Given the description of an element on the screen output the (x, y) to click on. 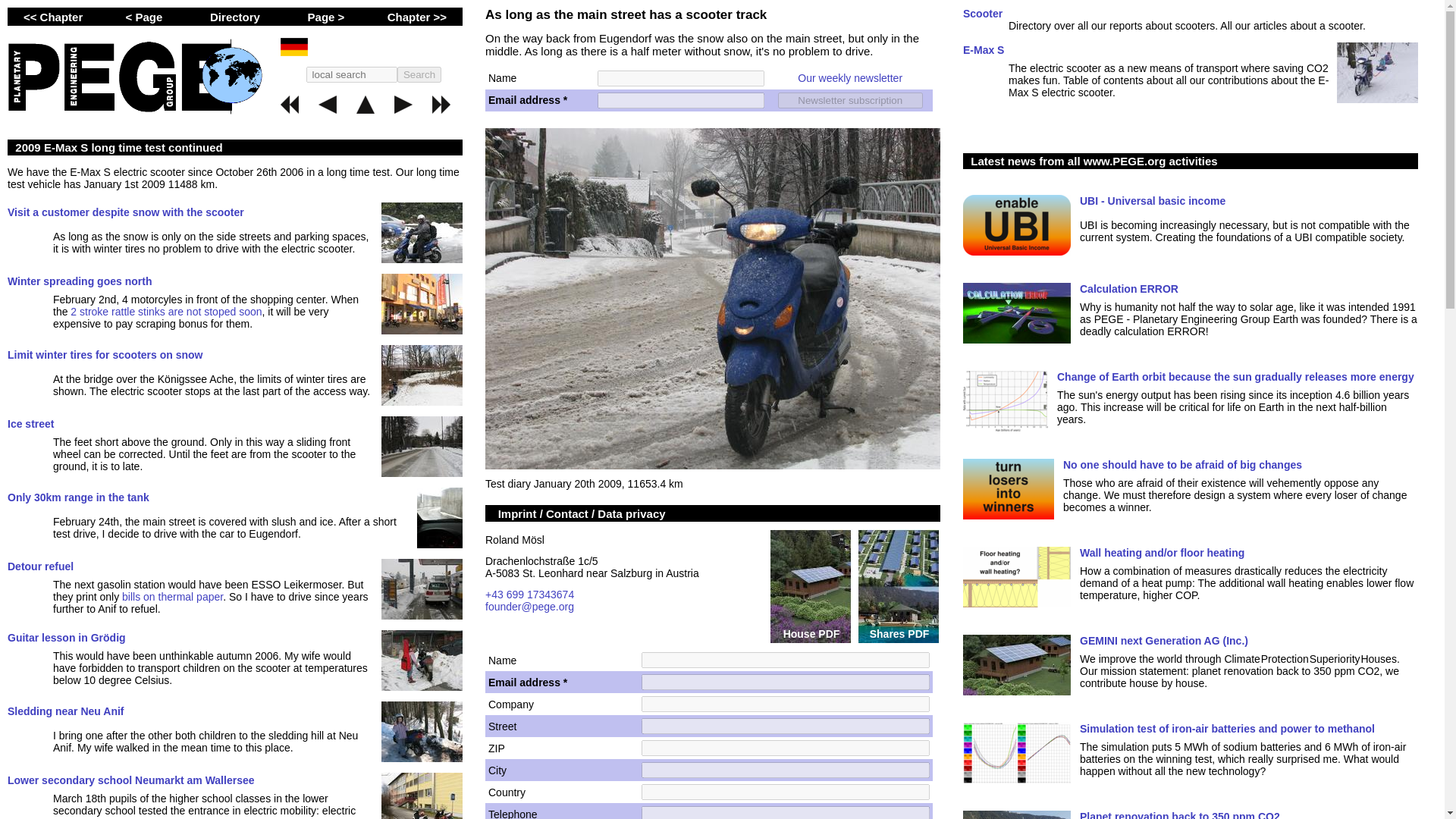
     Newsletter subscription      (850, 100)
Ice street (30, 423)
German (475, 51)
bills on thermal paper (172, 596)
    Our weekly newsletter     (850, 78)
  Directory   (234, 16)
Detour refuel (40, 566)
2 stroke rattle stinks are not stoped soon (165, 311)
Search (419, 74)
Limit winter tires for scooters on snow (104, 354)
